Given the description of an element on the screen output the (x, y) to click on. 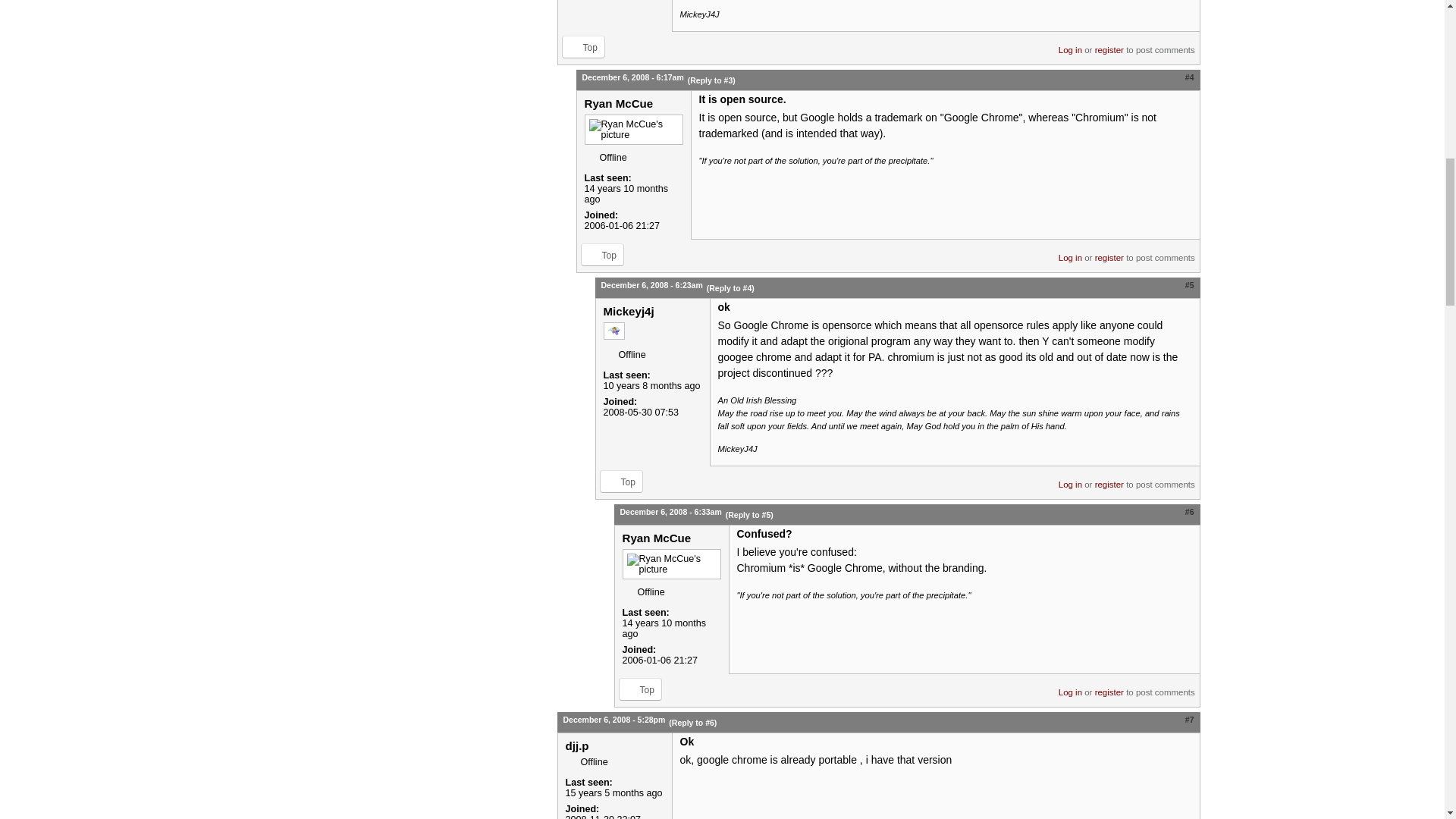
Jump to top of page (582, 47)
Ryan McCue's picture (632, 129)
Jump to top of page (602, 254)
